Given the description of an element on the screen output the (x, y) to click on. 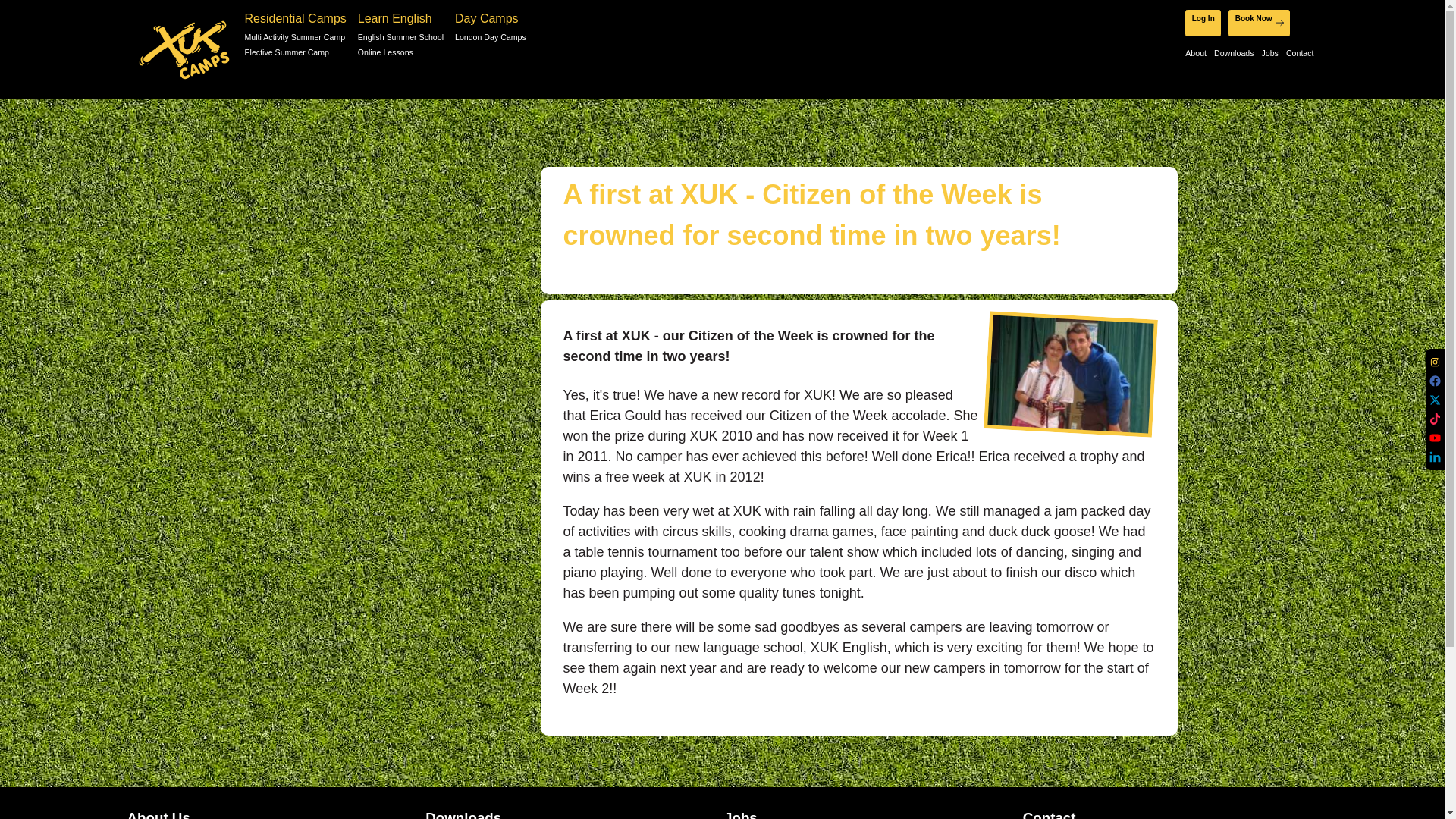
London Day Camps (489, 37)
TikTok account (1435, 419)
Book Now (1259, 22)
LinkedIn account (1435, 456)
Log In (1203, 22)
Jobs (1269, 53)
Multi Activity Summer Camp (295, 37)
Contact (1299, 53)
Instagram profile (1435, 361)
Facebook profile (1435, 380)
